Given the description of an element on the screen output the (x, y) to click on. 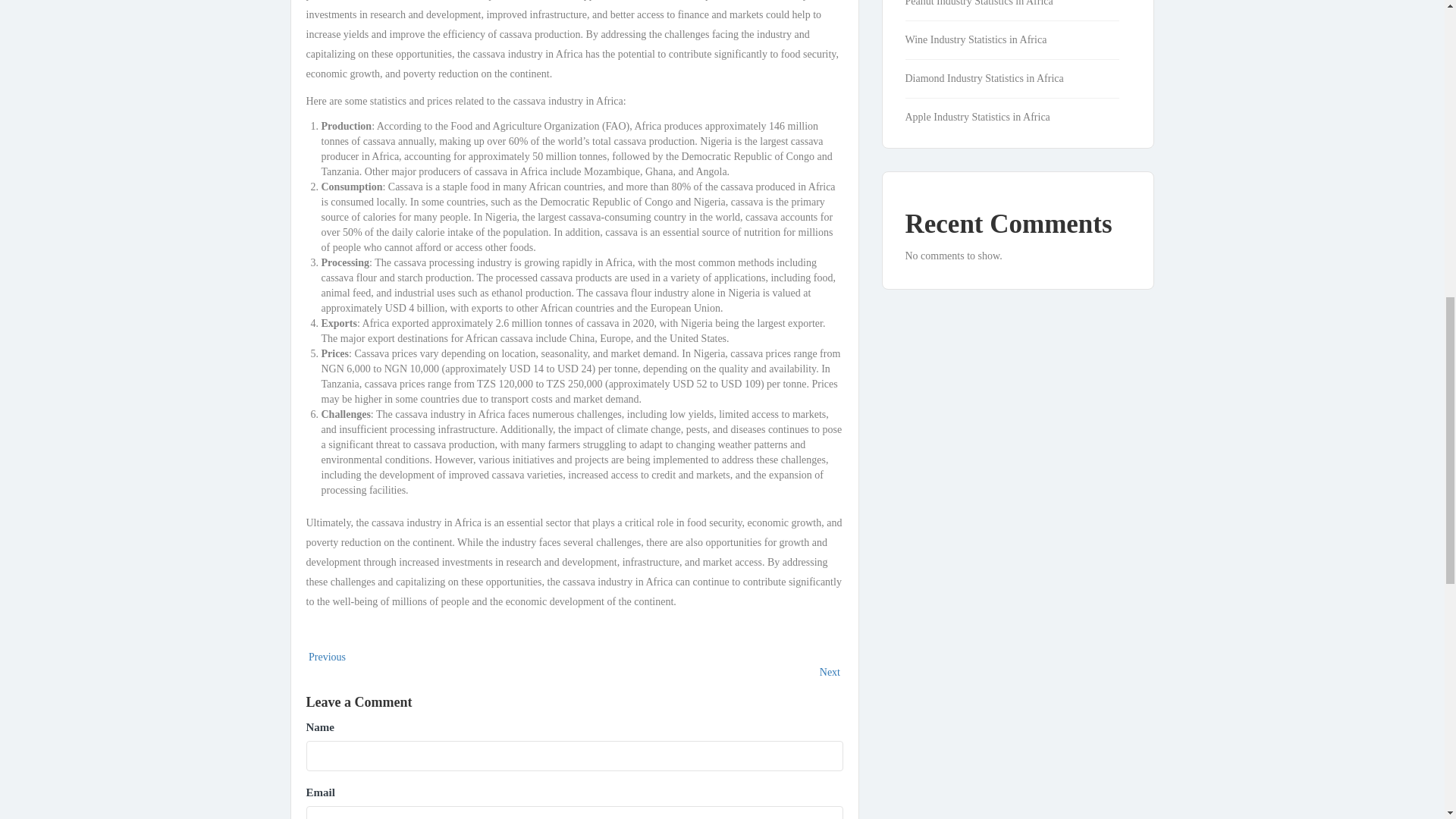
Diamond Industry Statistics in Africa (991, 78)
Previous (325, 656)
Next (831, 672)
Apple Industry Statistics in Africa (985, 116)
Peanut Industry Statistics in Africa (986, 3)
Wine Industry Statistics in Africa (983, 39)
